Given the description of an element on the screen output the (x, y) to click on. 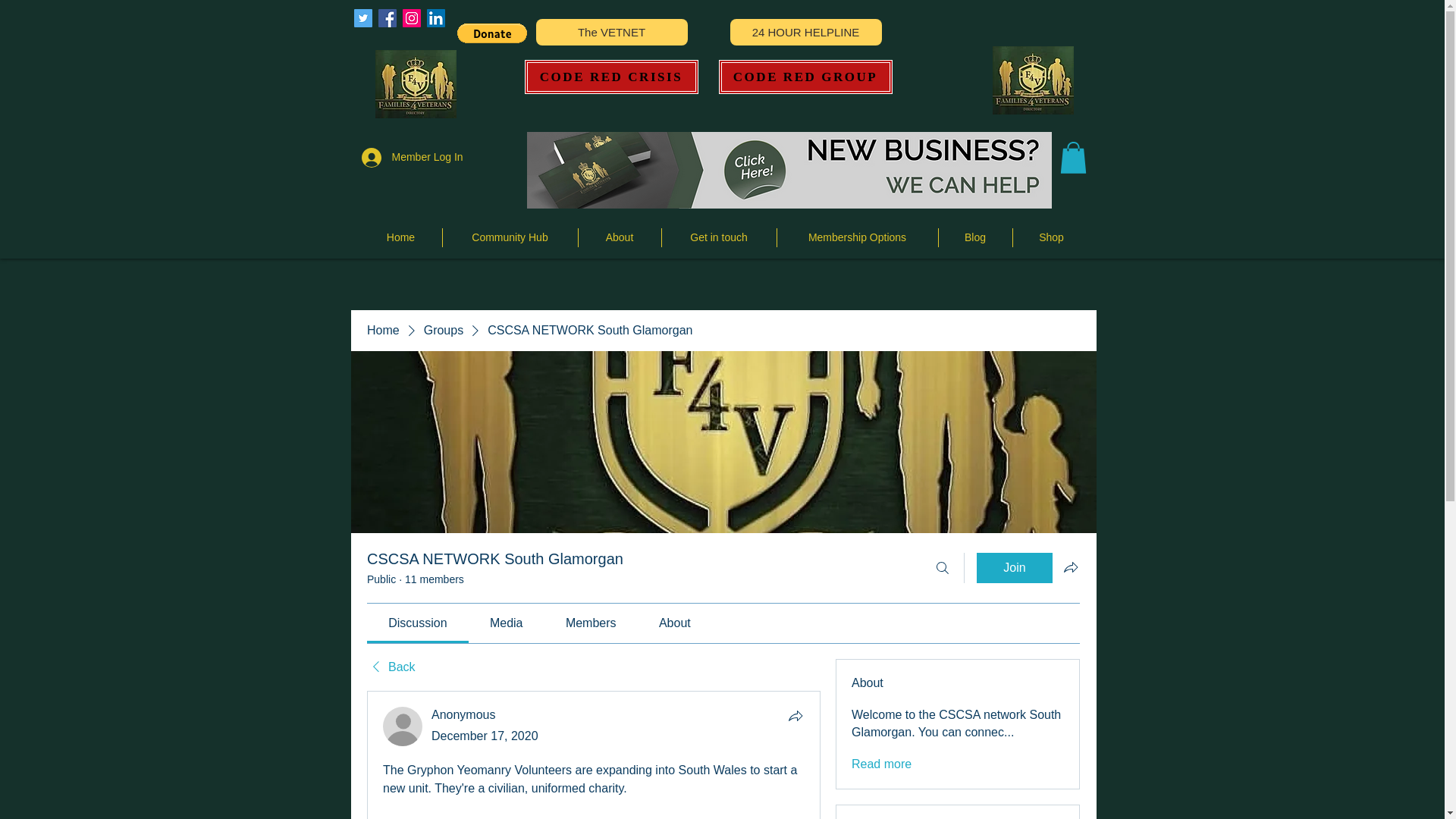
24 HOUR HELPLINE (804, 31)
CODE RED CRISIS (611, 76)
December 17, 2020 (484, 735)
Home (382, 330)
Join (1014, 567)
Anonymous (402, 726)
Member Log In (394, 156)
Groups (443, 330)
Home (400, 237)
The VETNET (611, 31)
